Given the description of an element on the screen output the (x, y) to click on. 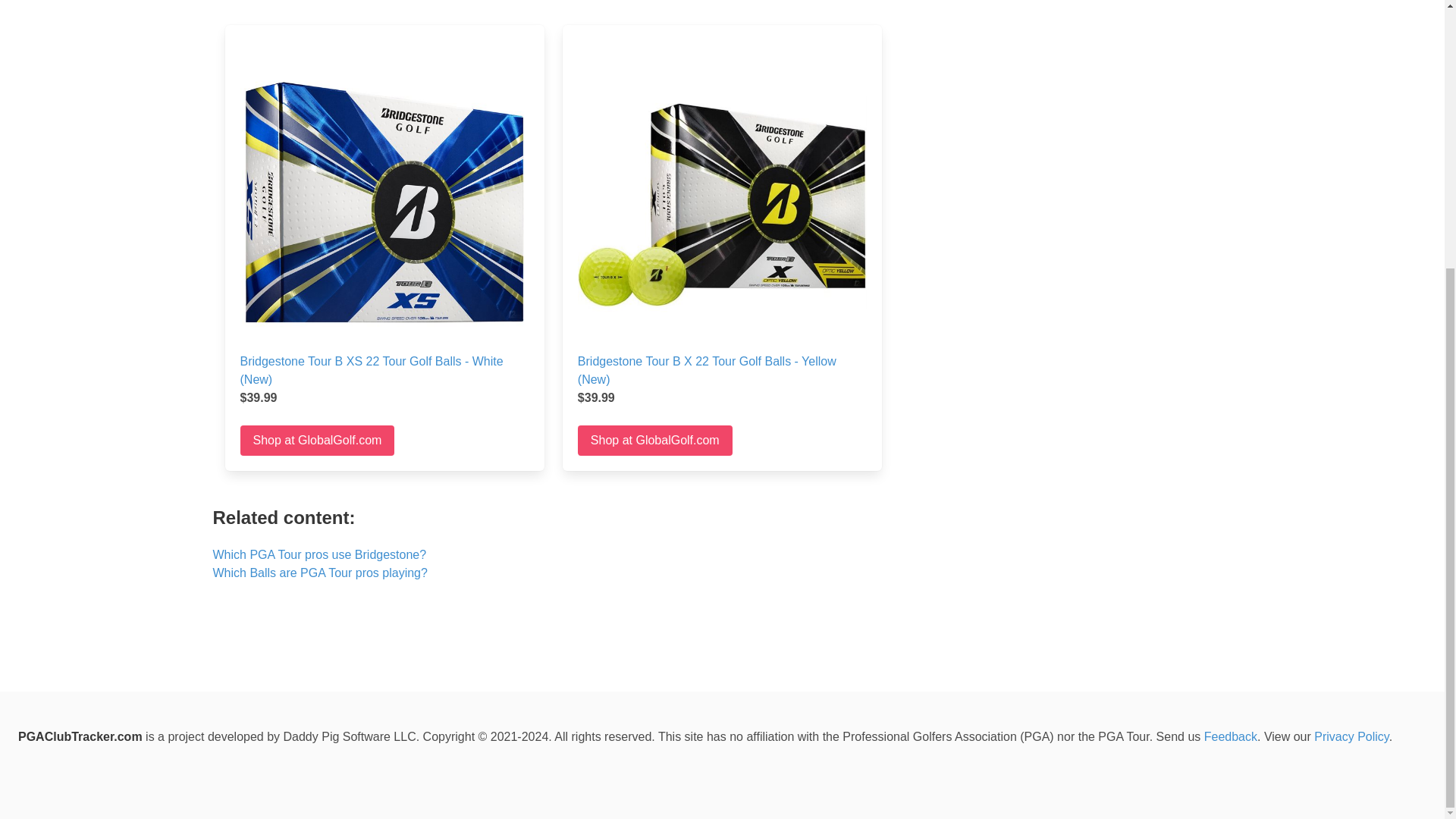
Feedback (1230, 736)
Privacy Policy (1351, 736)
Which PGA Tour pros use Bridgestone? (319, 554)
Which Balls are PGA Tour pros playing? (319, 572)
Shop at GlobalGolf.com (317, 440)
Shop at GlobalGolf.com (655, 440)
